Given the description of an element on the screen output the (x, y) to click on. 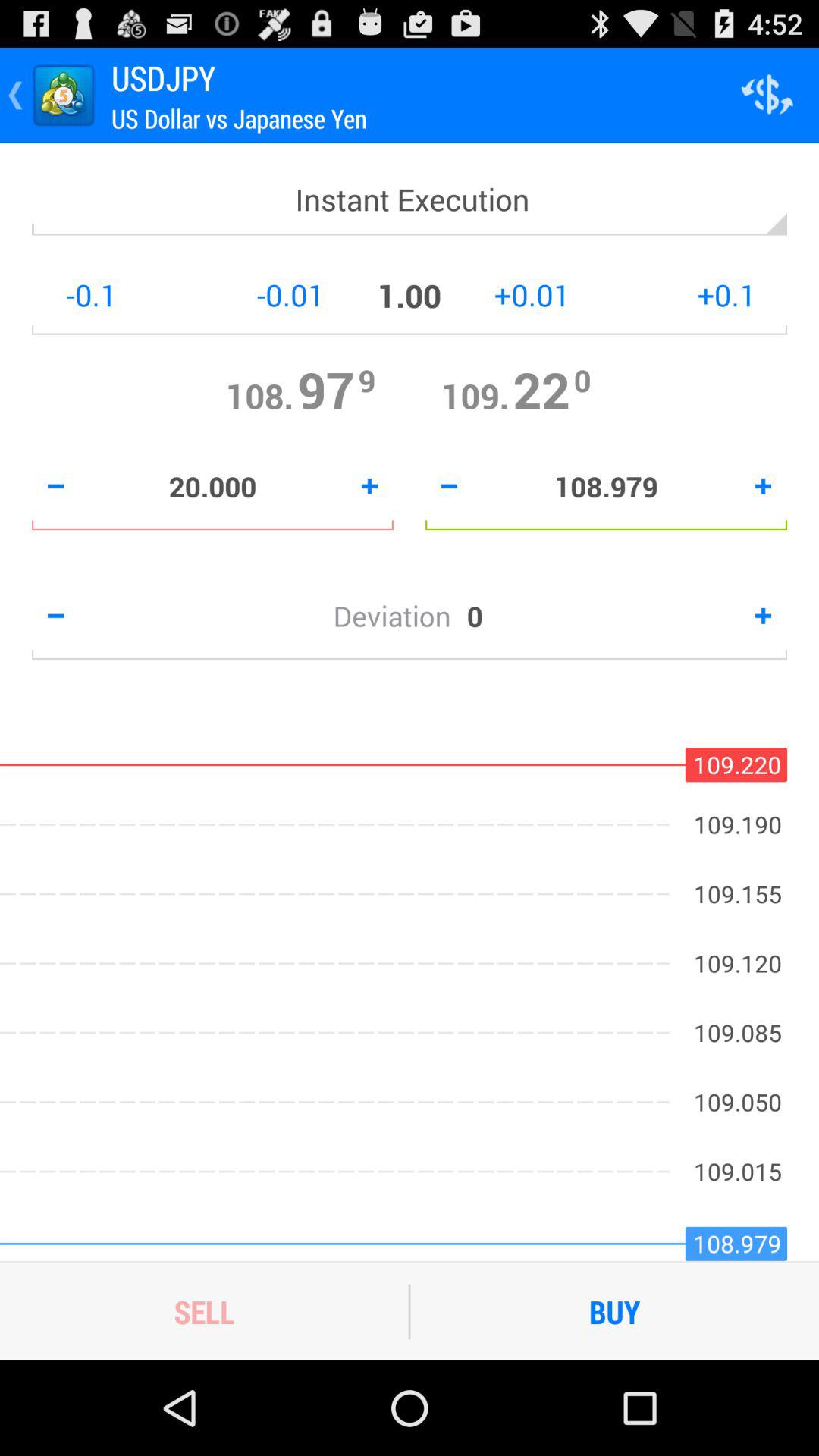
click 108.979 icon (606, 486)
